Given the description of an element on the screen output the (x, y) to click on. 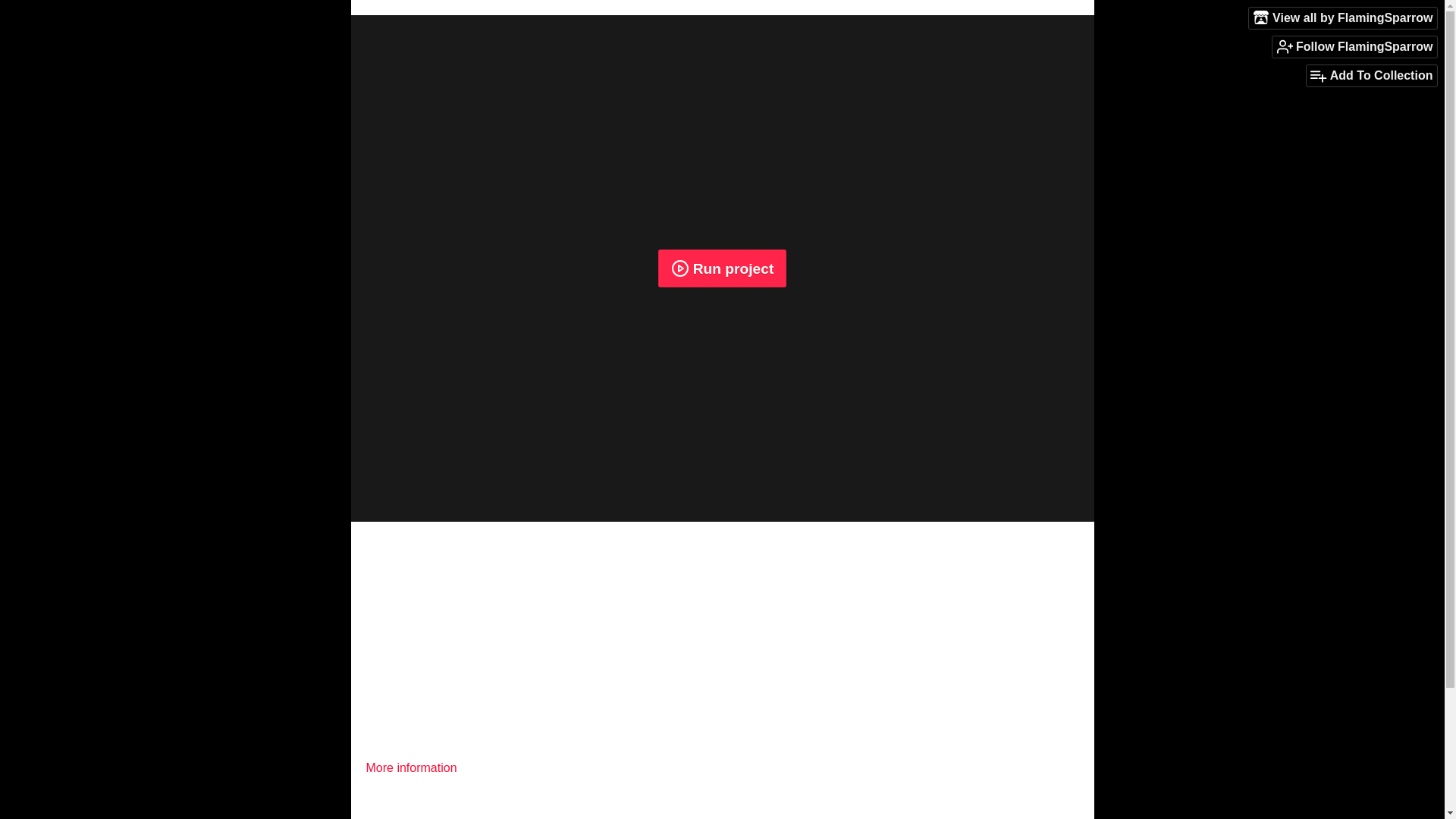
Add To Collection (1371, 75)
More information (416, 767)
Follow FlamingSparrow (1354, 46)
Run project (722, 268)
View all by FlamingSparrow (1343, 17)
